Given the description of an element on the screen output the (x, y) to click on. 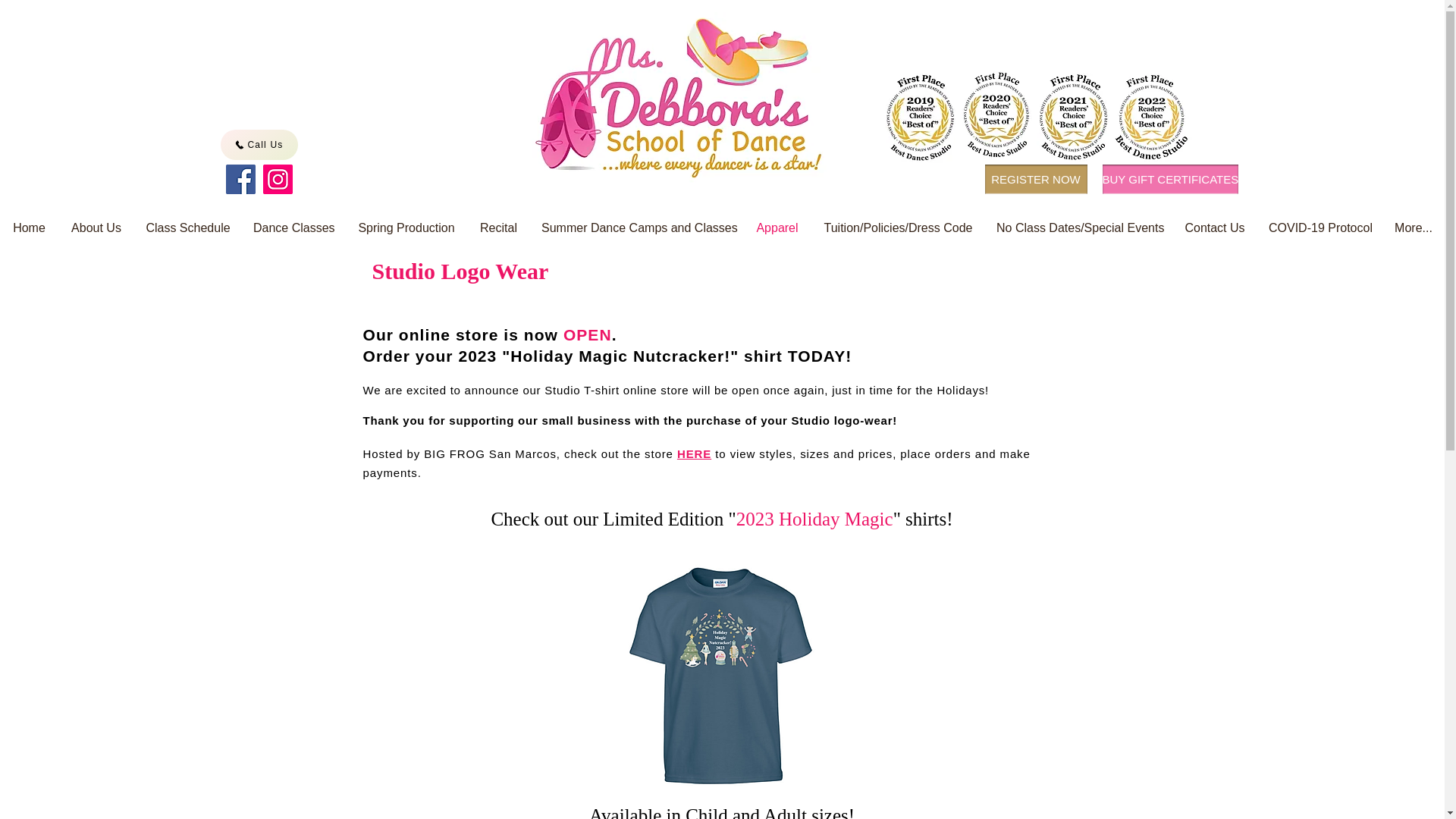
Apparel (776, 228)
Summer Dance Camps and Classes (635, 228)
REGISTER NOW (1035, 179)
Dance Classes (293, 228)
Recital (498, 228)
Contact Us (1214, 228)
BUY GIFT CERTIFICATES (1170, 179)
Home (29, 228)
Class Schedule (187, 228)
Call Us (258, 144)
Spring Production (406, 228)
About Us (95, 228)
HERE (694, 453)
COVID-19 Protocol (1319, 228)
